Given the description of an element on the screen output the (x, y) to click on. 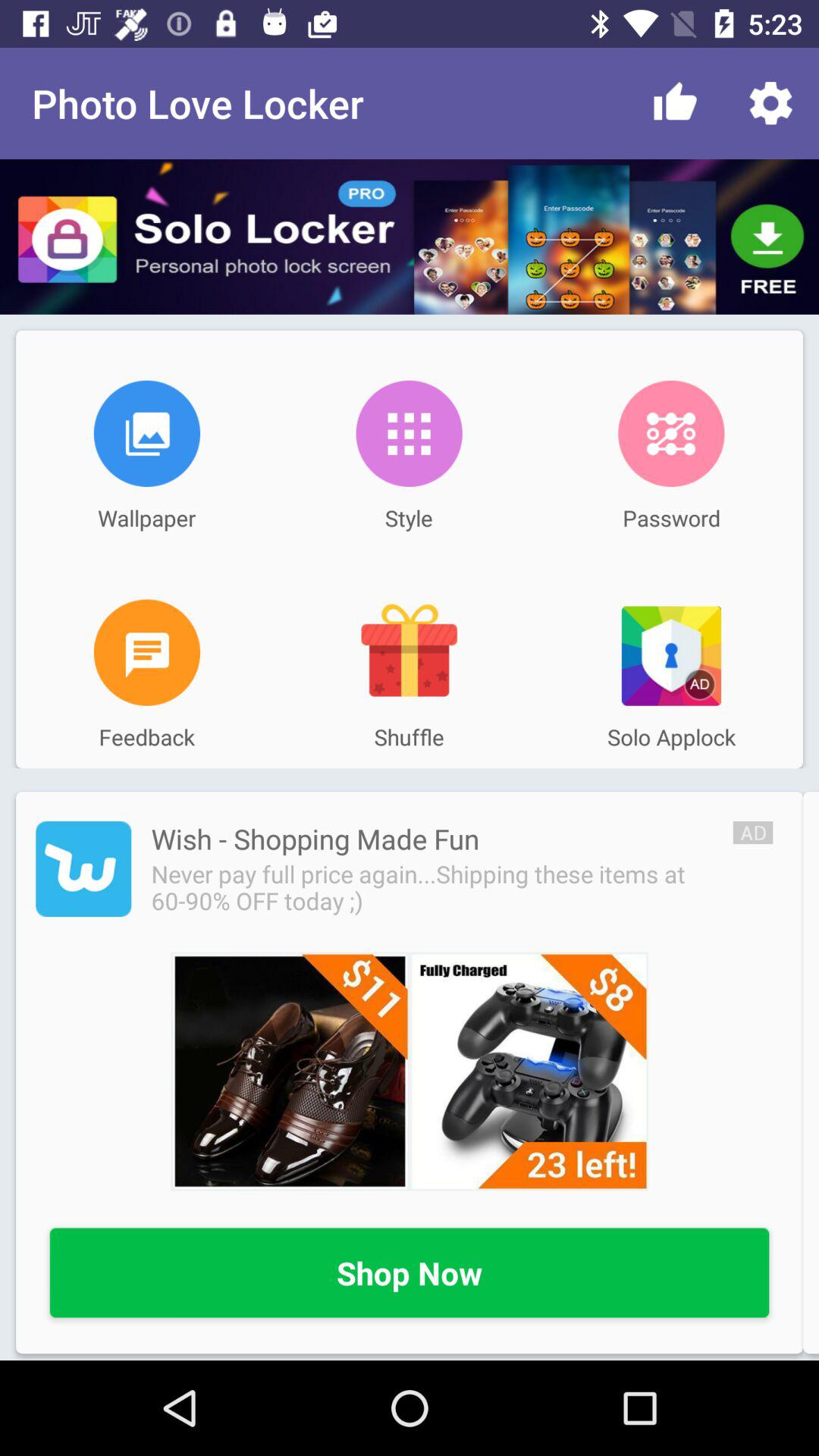
choose icon next to wallpaper (409, 433)
